Given the description of an element on the screen output the (x, y) to click on. 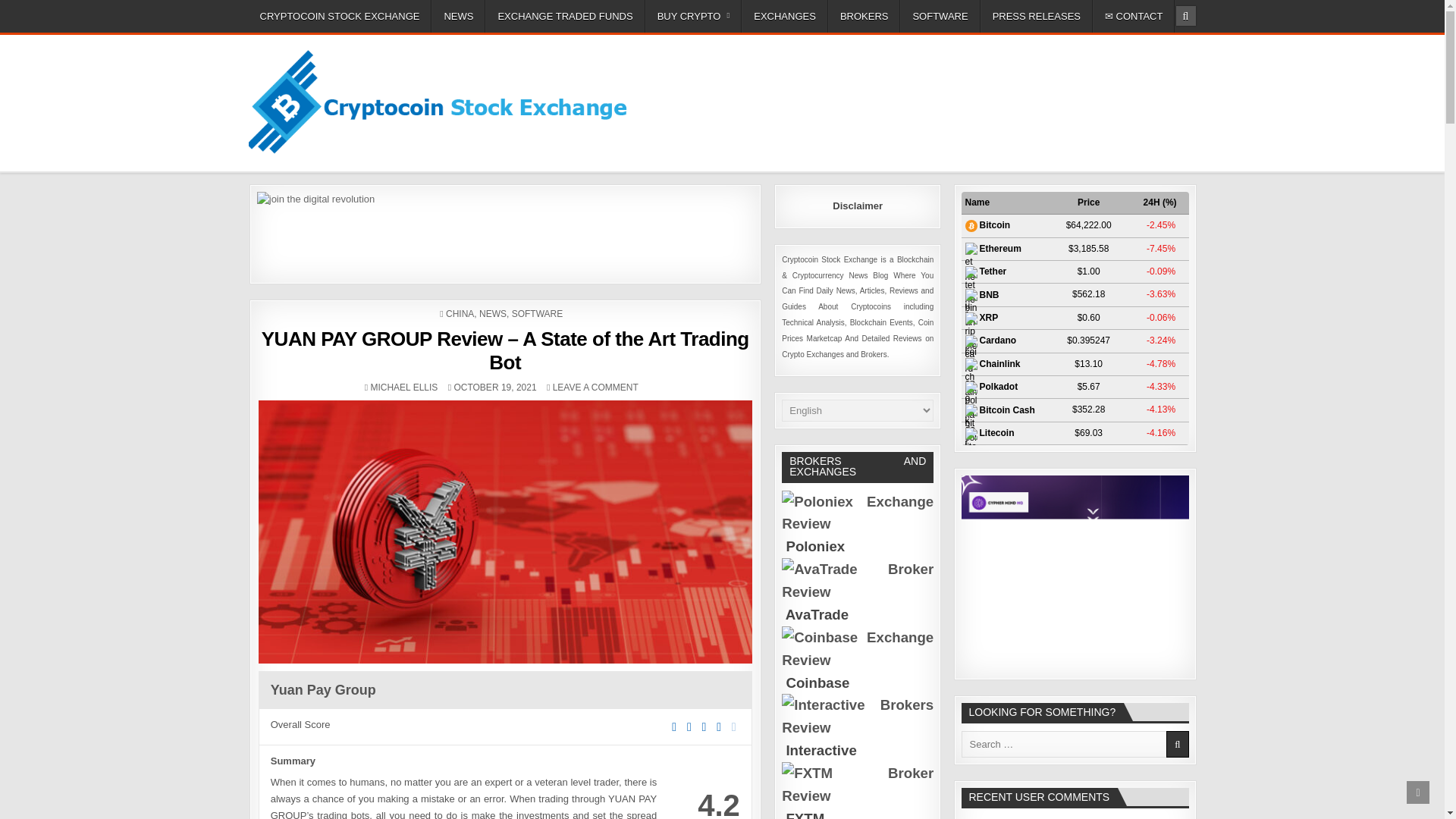
MICHAEL ELLIS (403, 387)
CRYPTOCOIN STOCK EXCHANGE (340, 16)
join the digital revolution (505, 230)
BUY CRYPTO (693, 16)
EXCHANGE TRADED FUNDS (564, 16)
PRESS RELEASES (1036, 16)
BROKERS (864, 16)
NEWS (492, 313)
SOFTWARE (939, 16)
CHINA (459, 313)
Search (1184, 15)
SOFTWARE (537, 313)
NEWS (457, 16)
LEAVE A COMMENT (596, 387)
EXCHANGES (784, 16)
